Given the description of an element on the screen output the (x, y) to click on. 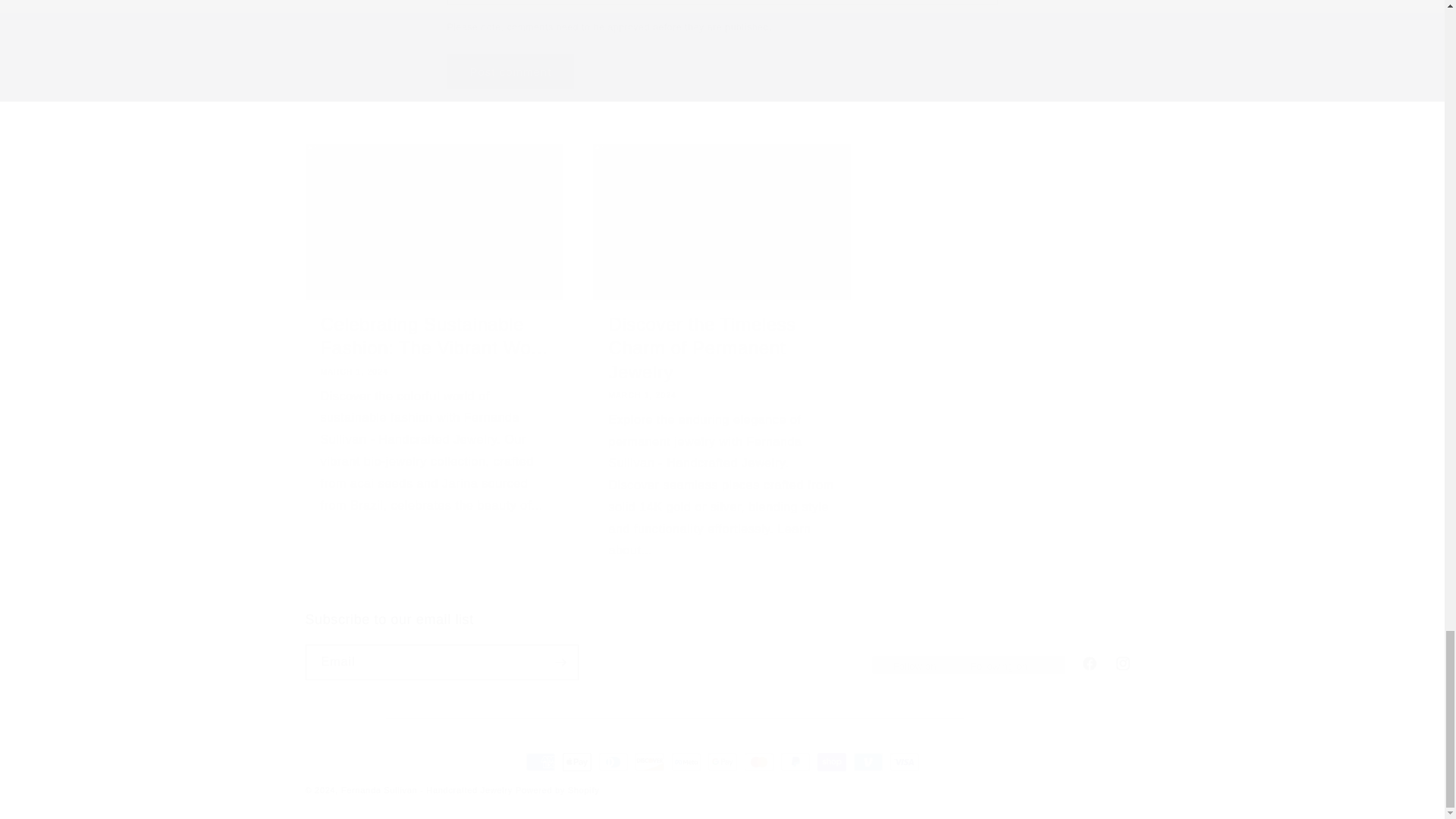
Post comment (510, 71)
